Given the description of an element on the screen output the (x, y) to click on. 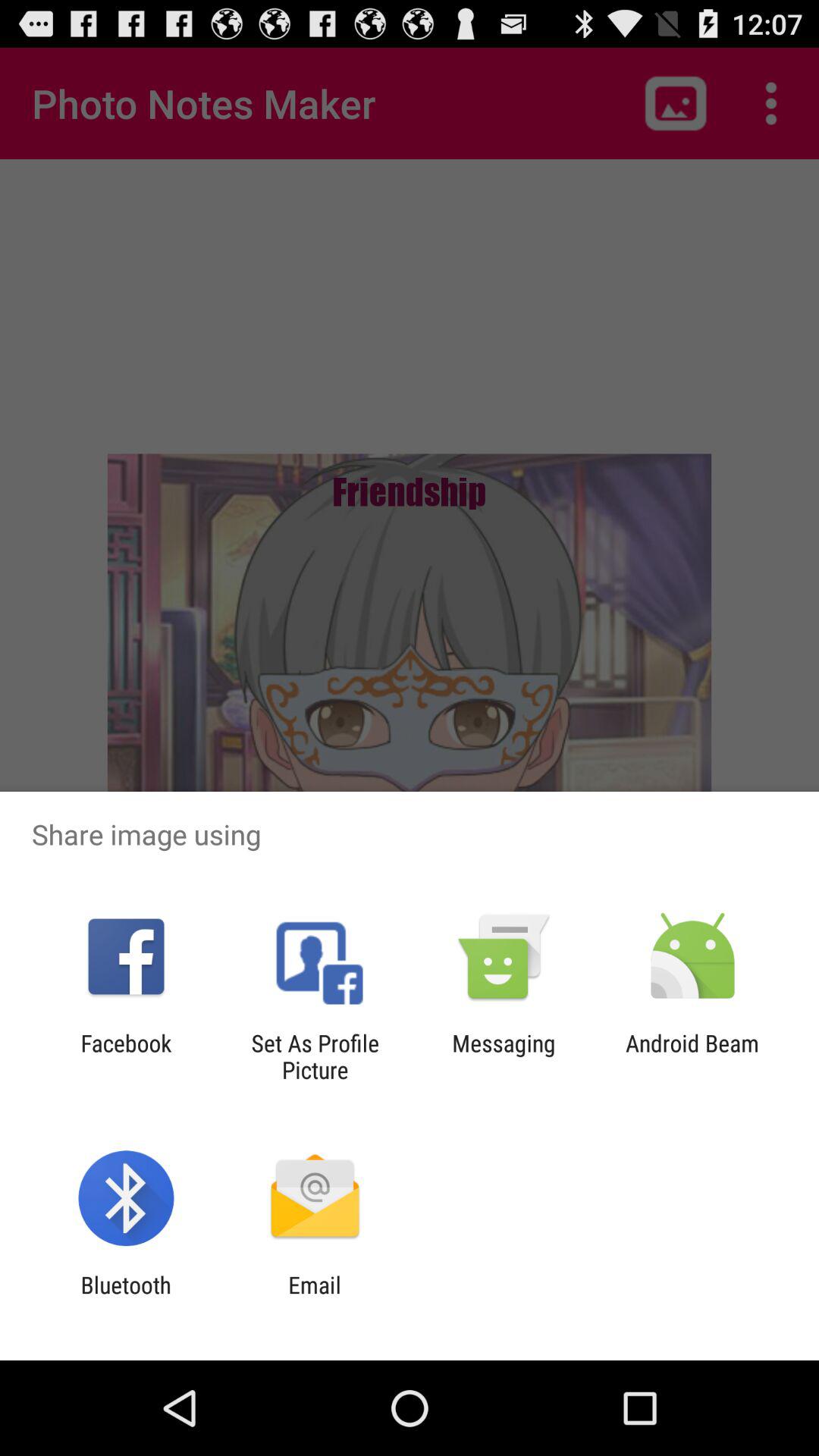
press the app next to messaging item (692, 1056)
